Given the description of an element on the screen output the (x, y) to click on. 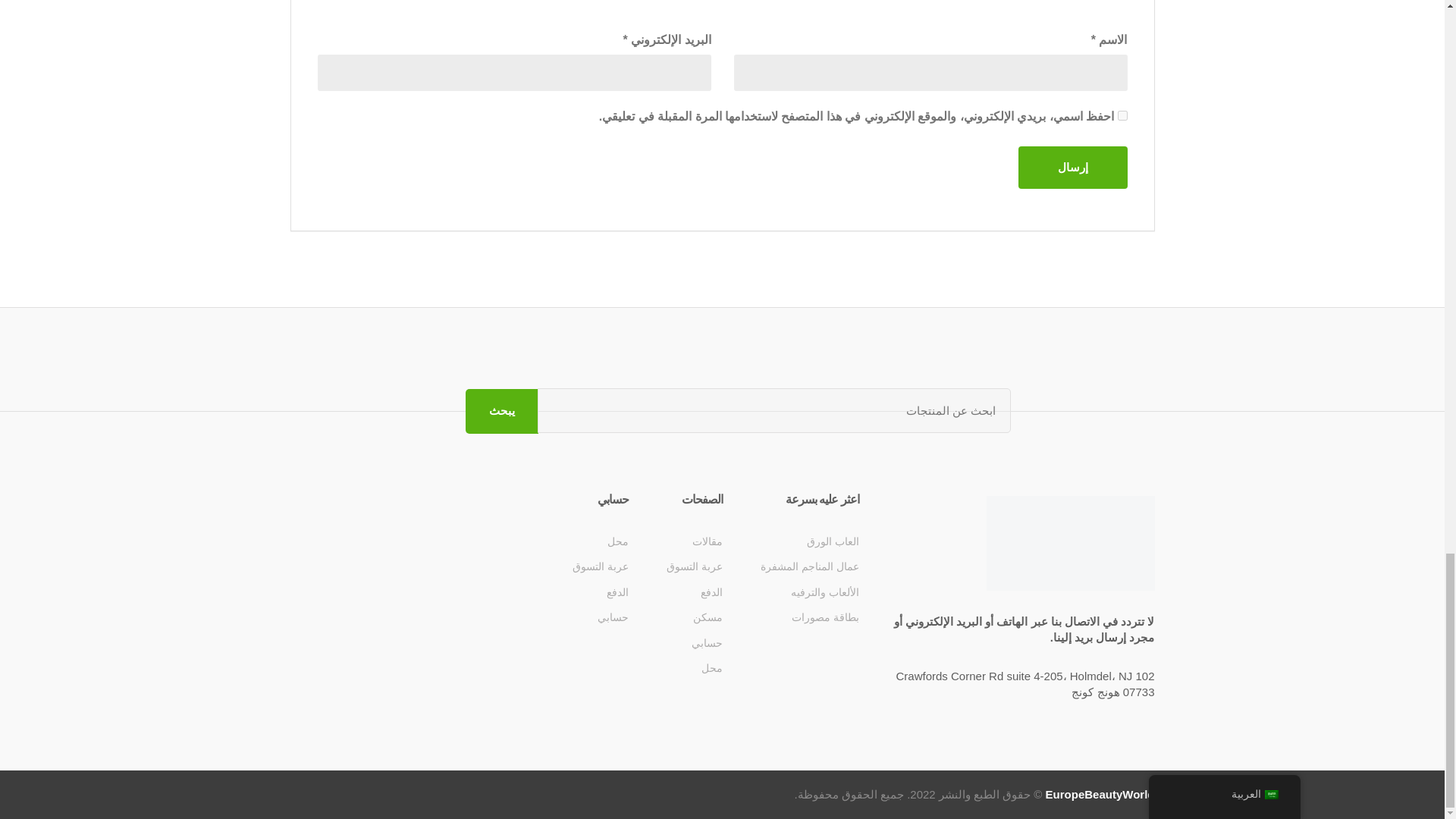
yes (1122, 115)
